Given the description of an element on the screen output the (x, y) to click on. 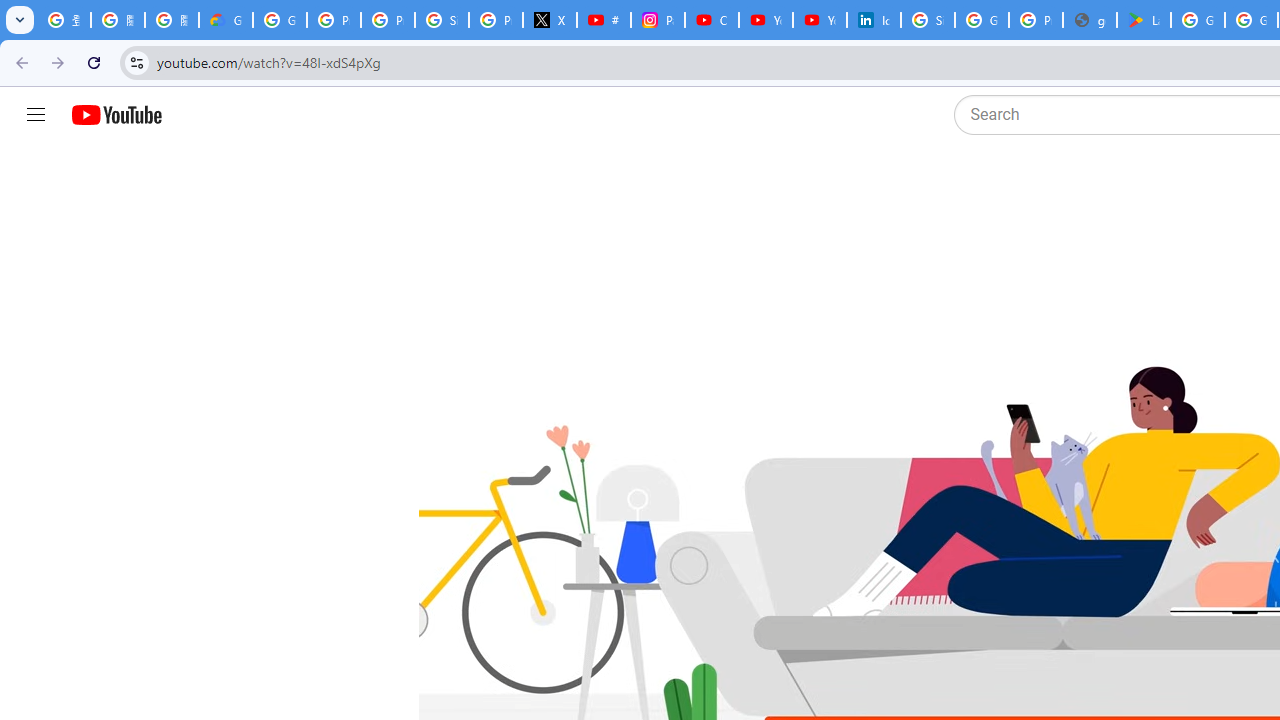
#nbabasketballhighlights - YouTube (604, 20)
Sign in - Google Accounts (441, 20)
Last Shelter: Survival - Apps on Google Play (1144, 20)
google_privacy_policy_en.pdf (1089, 20)
YouTube Culture & Trends - YouTube Top 10, 2021 (819, 20)
